Given the description of an element on the screen output the (x, y) to click on. 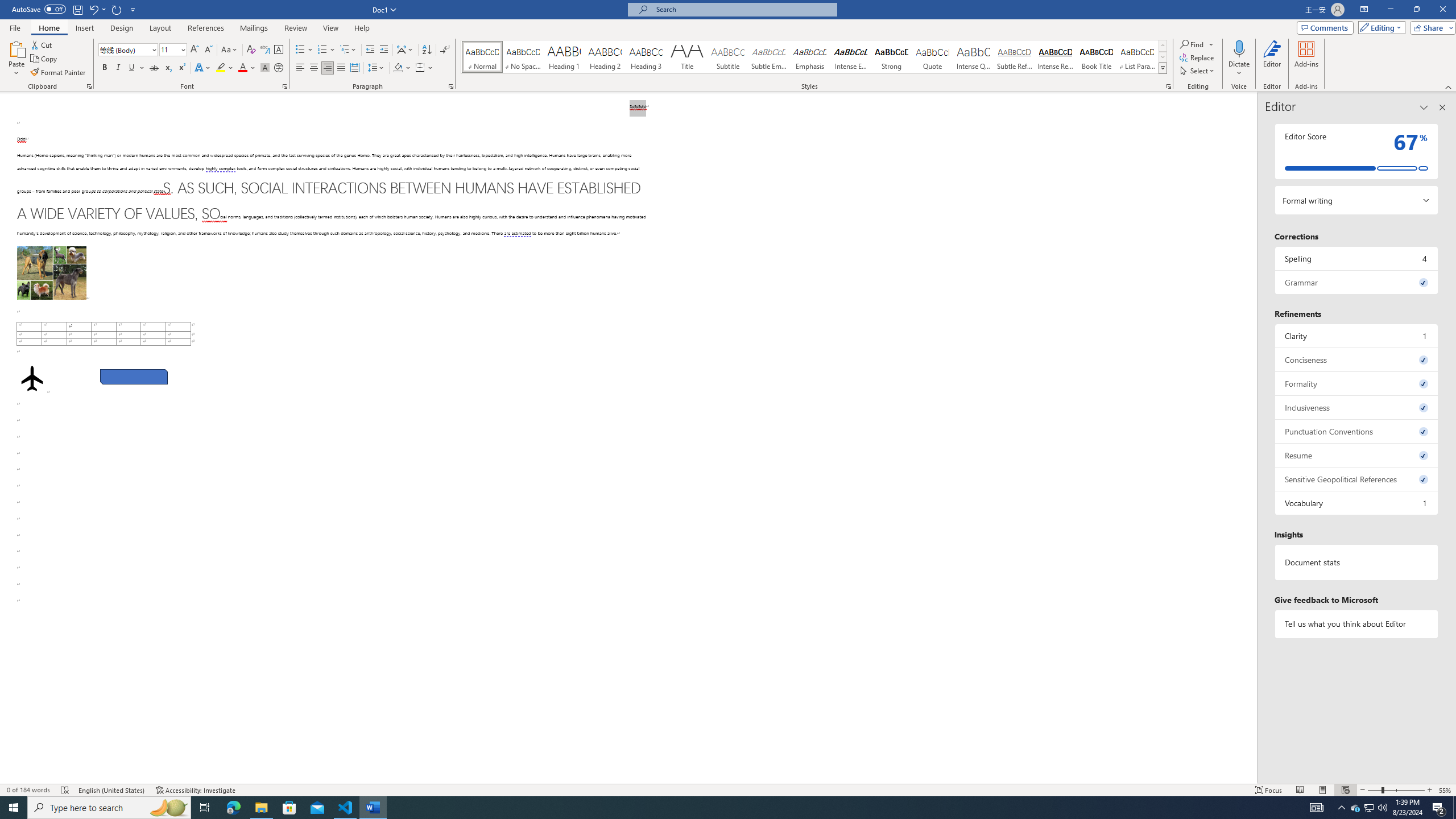
Paragraph... (450, 85)
Zoom 55% (1445, 790)
Undo Paragraph Alignment (92, 9)
Class: NetUIScrollBar (1251, 437)
Center (313, 67)
Airplane with solid fill (31, 378)
Align Left (300, 67)
Replace... (1197, 56)
Grammar, 0 issues. Press space or enter to review items. (1356, 282)
